Given the description of an element on the screen output the (x, y) to click on. 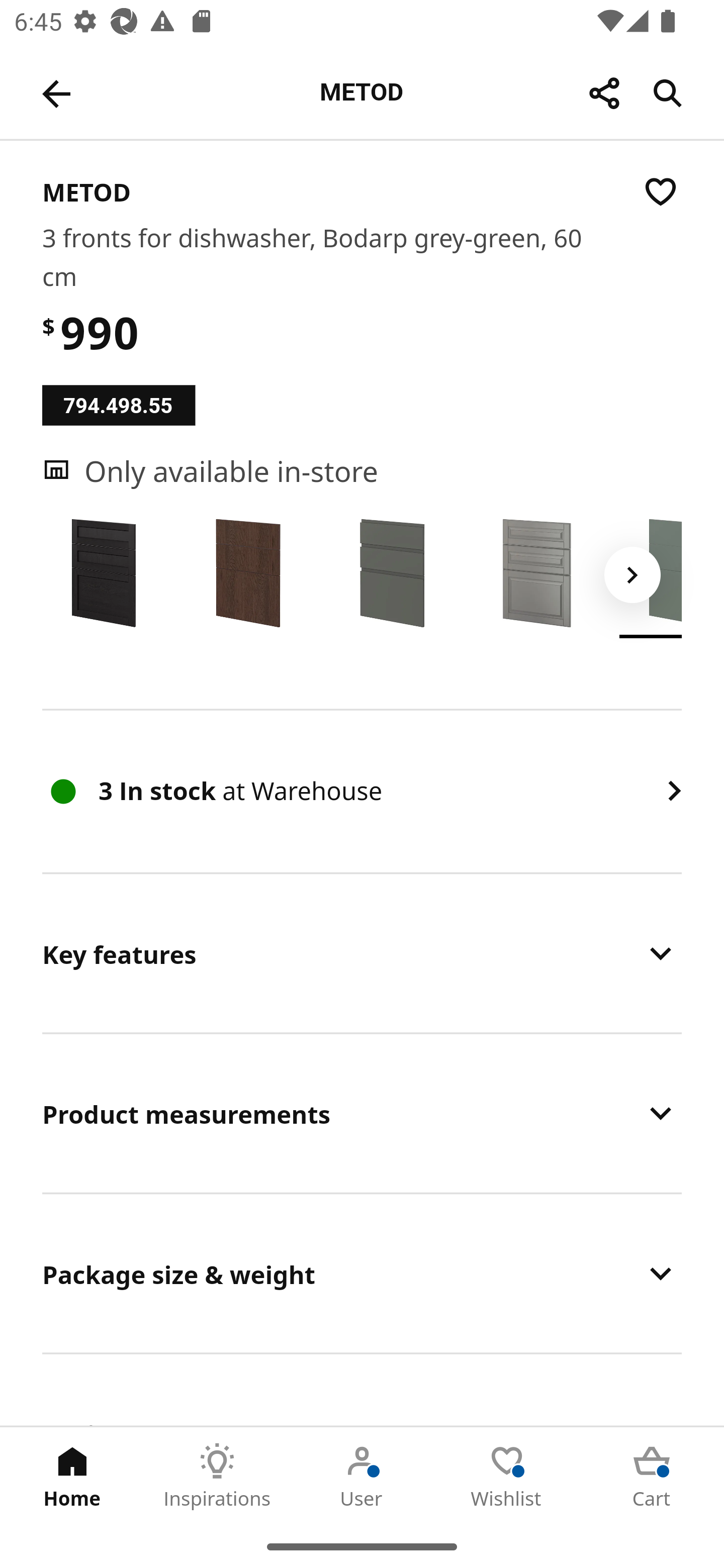
3 In stock at Warehouse (361, 790)
Key features (361, 953)
Product measurements (361, 1113)
Package size & weight (361, 1273)
Home
Tab 1 of 5 (72, 1476)
Inspirations
Tab 2 of 5 (216, 1476)
User
Tab 3 of 5 (361, 1476)
Wishlist
Tab 4 of 5 (506, 1476)
Cart
Tab 5 of 5 (651, 1476)
